Given the description of an element on the screen output the (x, y) to click on. 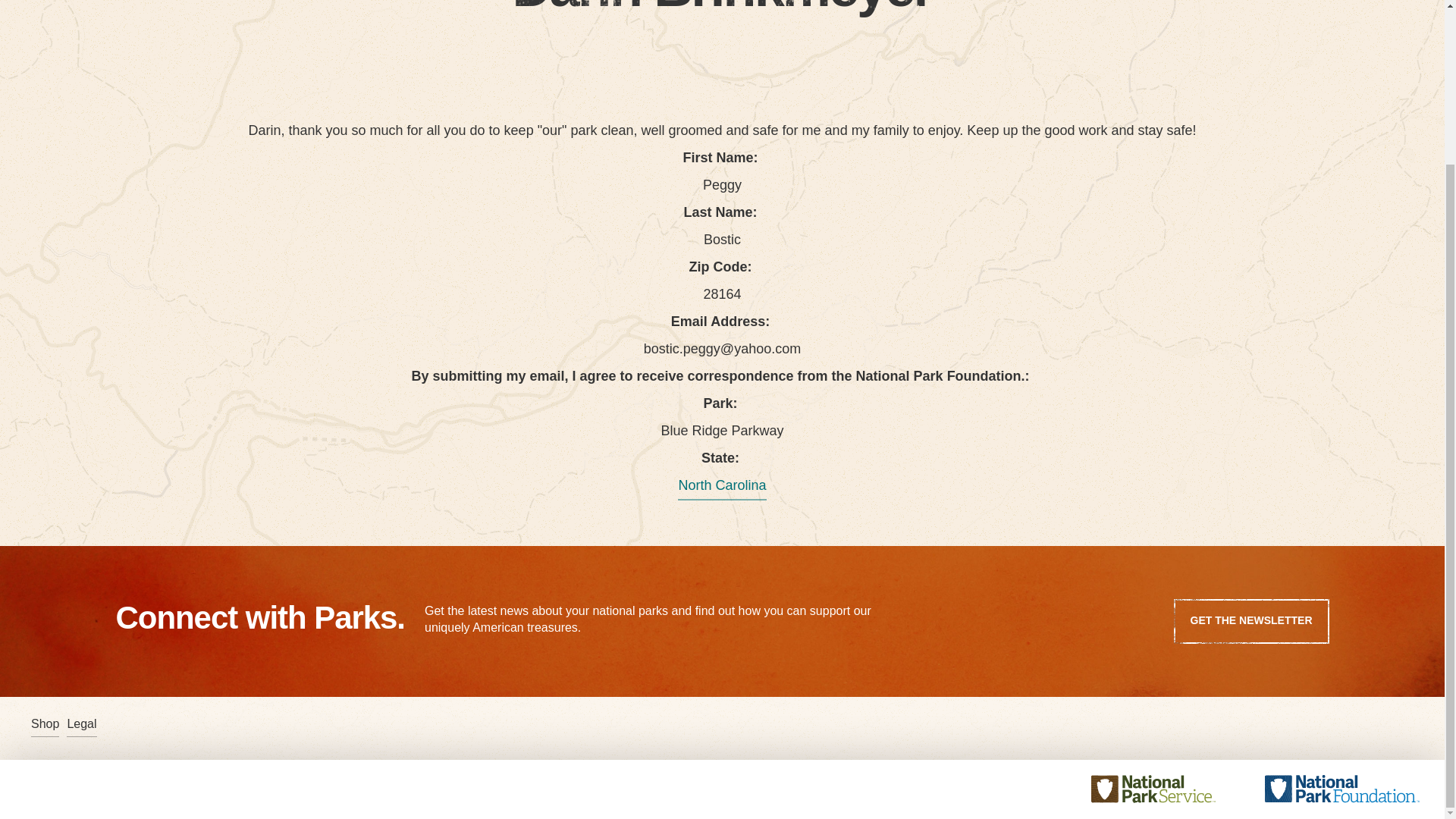
National Park Service (1168, 594)
Legal (81, 724)
Shop (44, 724)
National Park Foundation (1342, 594)
North Carolina (721, 485)
GET THE NEWSLETTER (1251, 620)
